Given the description of an element on the screen output the (x, y) to click on. 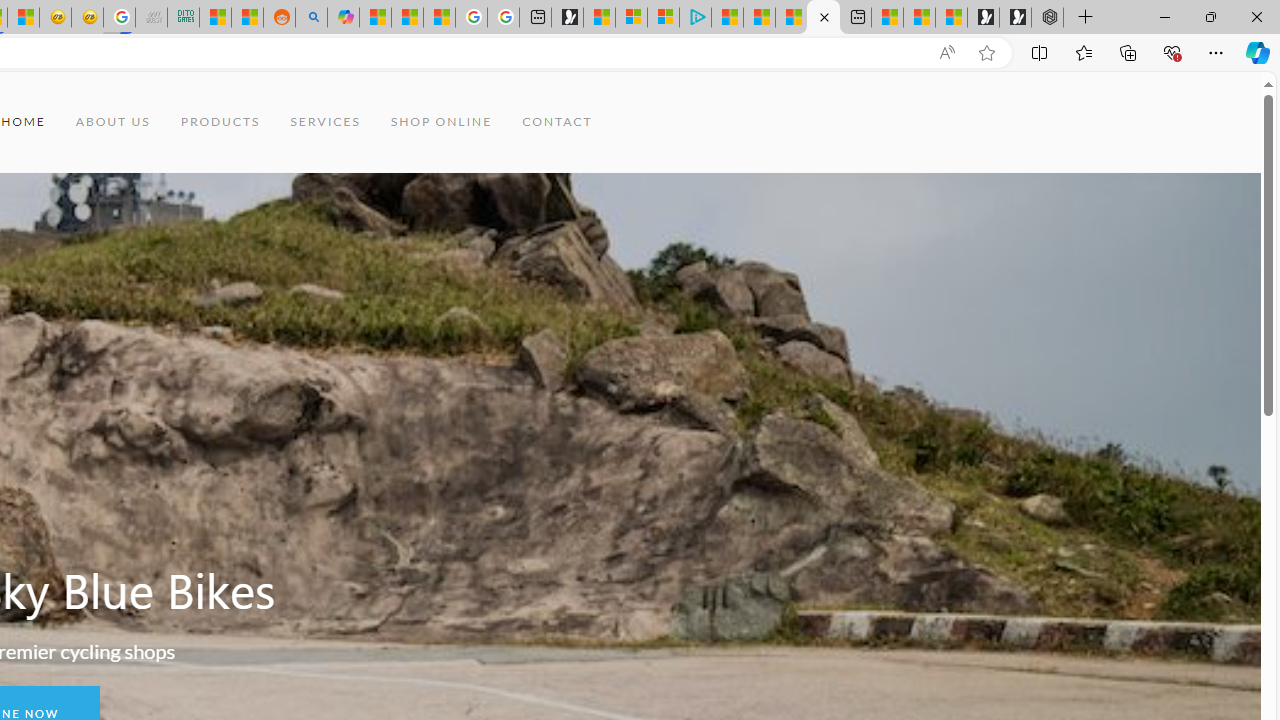
SHOP ONLINE (441, 122)
Play Free Online Games | Games from Microsoft Start (1014, 17)
PRODUCTS (220, 122)
PRODUCTS (220, 122)
Nordace - Nordace Siena Is Not An Ordinary Backpack (1047, 17)
Microsoft Start Gaming (566, 17)
